Given the description of an element on the screen output the (x, y) to click on. 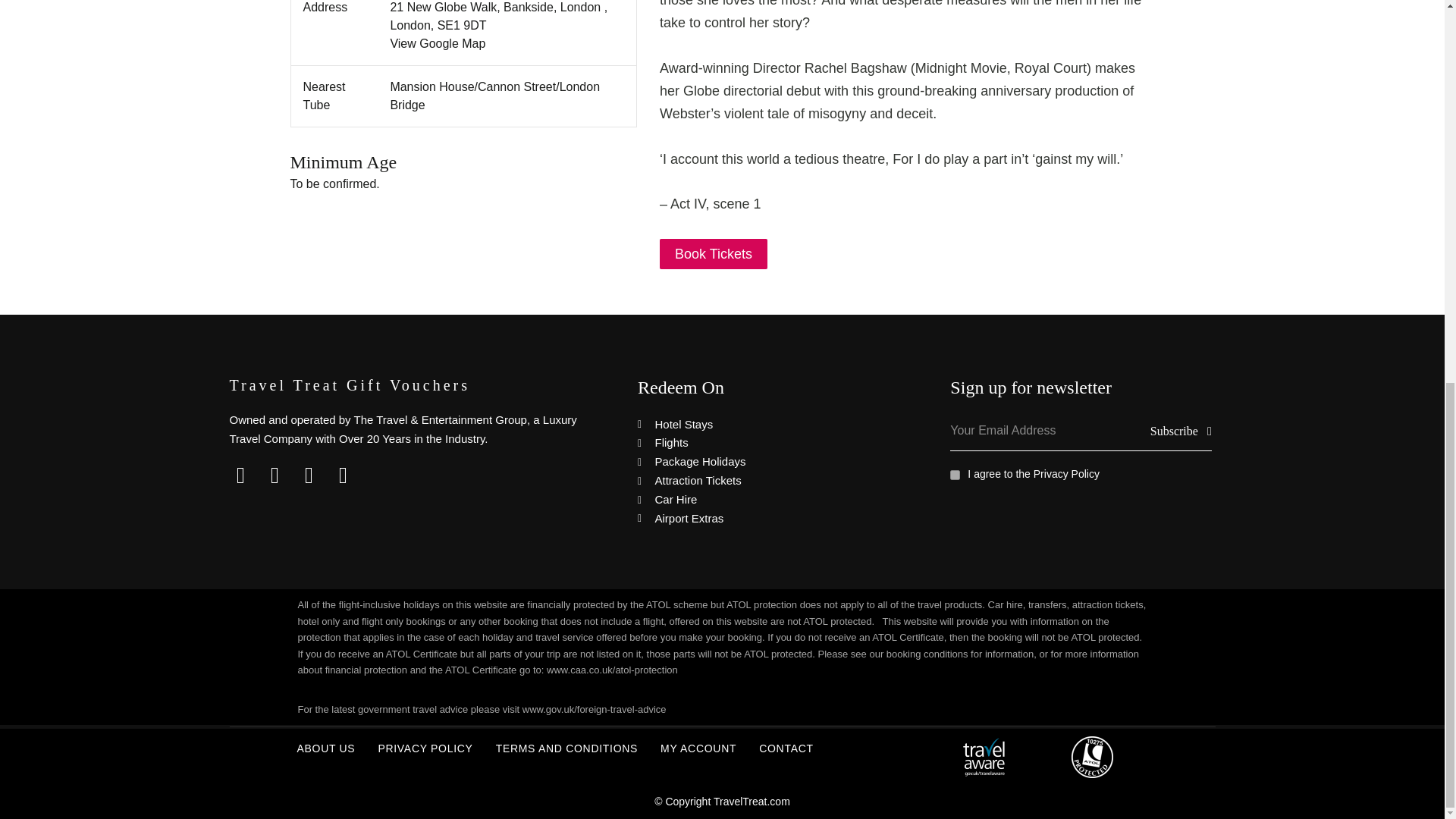
PRIVACY POLICY (424, 748)
MY ACCOUNT (698, 748)
Car Hire (766, 499)
Book Tickets (713, 254)
TravelTreat.com (751, 801)
Airport Extras (766, 518)
1 (954, 474)
Package Holidays (766, 461)
Flights (766, 443)
TERMS AND CONDITIONS (566, 748)
Subscribe (1180, 431)
Attraction Tickets (766, 480)
Hotel Stays (766, 424)
ABOUT US (325, 748)
CONTACT (786, 748)
